Given the description of an element on the screen output the (x, y) to click on. 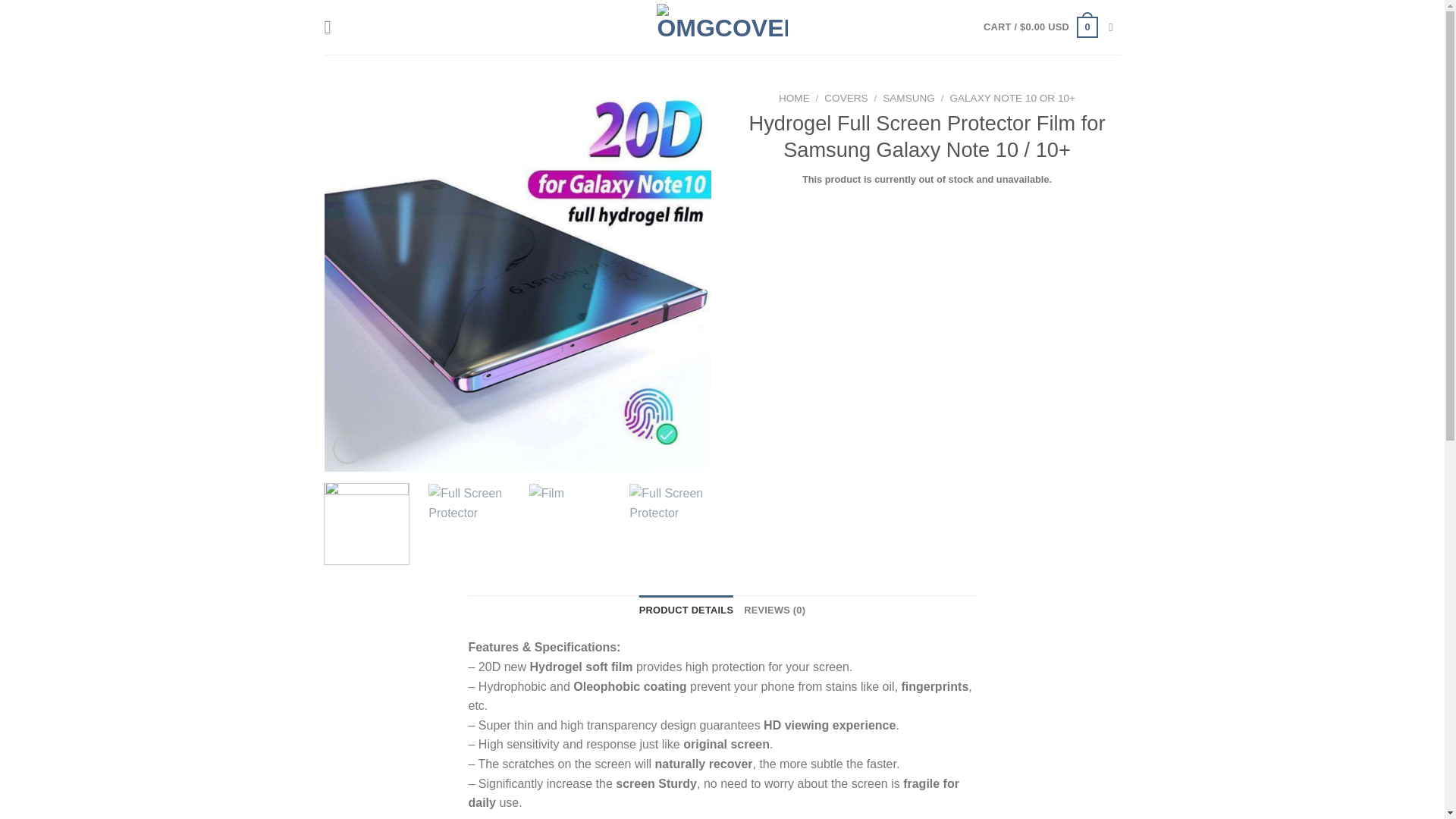
OMGCovers - Make Your Custom iPhone Case (721, 27)
PRODUCT DETAILS (686, 610)
Zoom (347, 449)
SAMSUNG (908, 98)
COVERS (845, 98)
HOME (793, 98)
Cart (1040, 26)
